Given the description of an element on the screen output the (x, y) to click on. 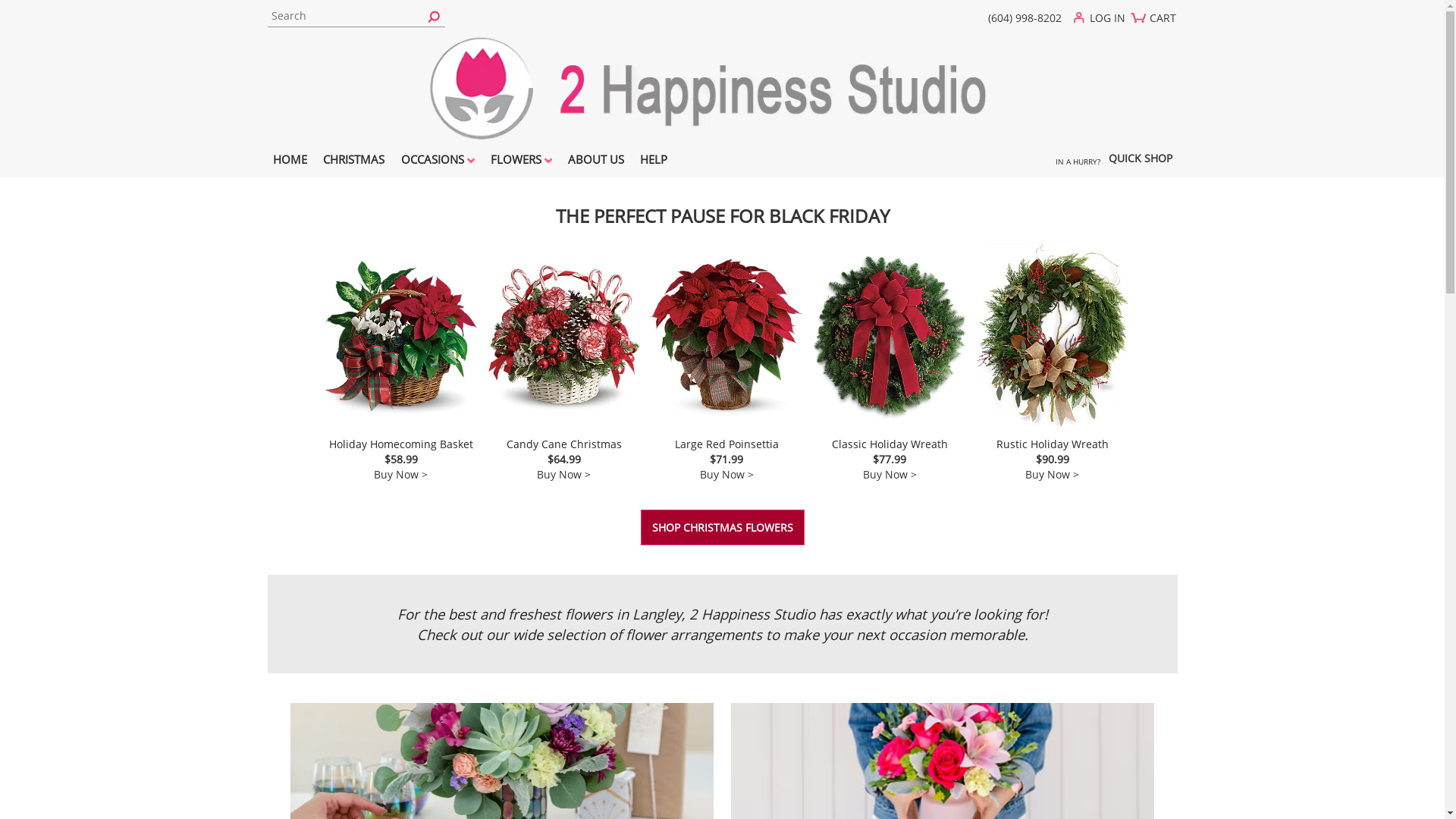
CHRISTMAS Element type: text (353, 161)
LOG IN Element type: text (1103, 21)
FLOWERS Element type: text (520, 161)
ABOUT US Element type: text (596, 161)
CART Element type: text (1156, 23)
SHOP CHRISTMAS FLOWERS Element type: text (721, 527)
Large Red Poinsettia
$71.99
Buy Now > Element type: text (726, 362)
OCCASIONS Element type: text (437, 161)
Search Element type: hover (355, 15)
(604) 998-8202 Element type: text (1024, 17)
Go Element type: hover (434, 15)
Candy Cane Christmas
$64.99
Buy Now > Element type: text (564, 362)
Classic Holiday Wreath
$77.99
Buy Now > Element type: text (889, 362)
QUICK SHOP Element type: text (1139, 160)
Rustic Holiday Wreath
$90.99
Buy Now > Element type: text (1052, 362)
HOME Element type: text (289, 161)
HELP Element type: text (653, 161)
Holiday Homecoming Basket
$58.99
Buy Now > Element type: text (400, 362)
